Given the description of an element on the screen output the (x, y) to click on. 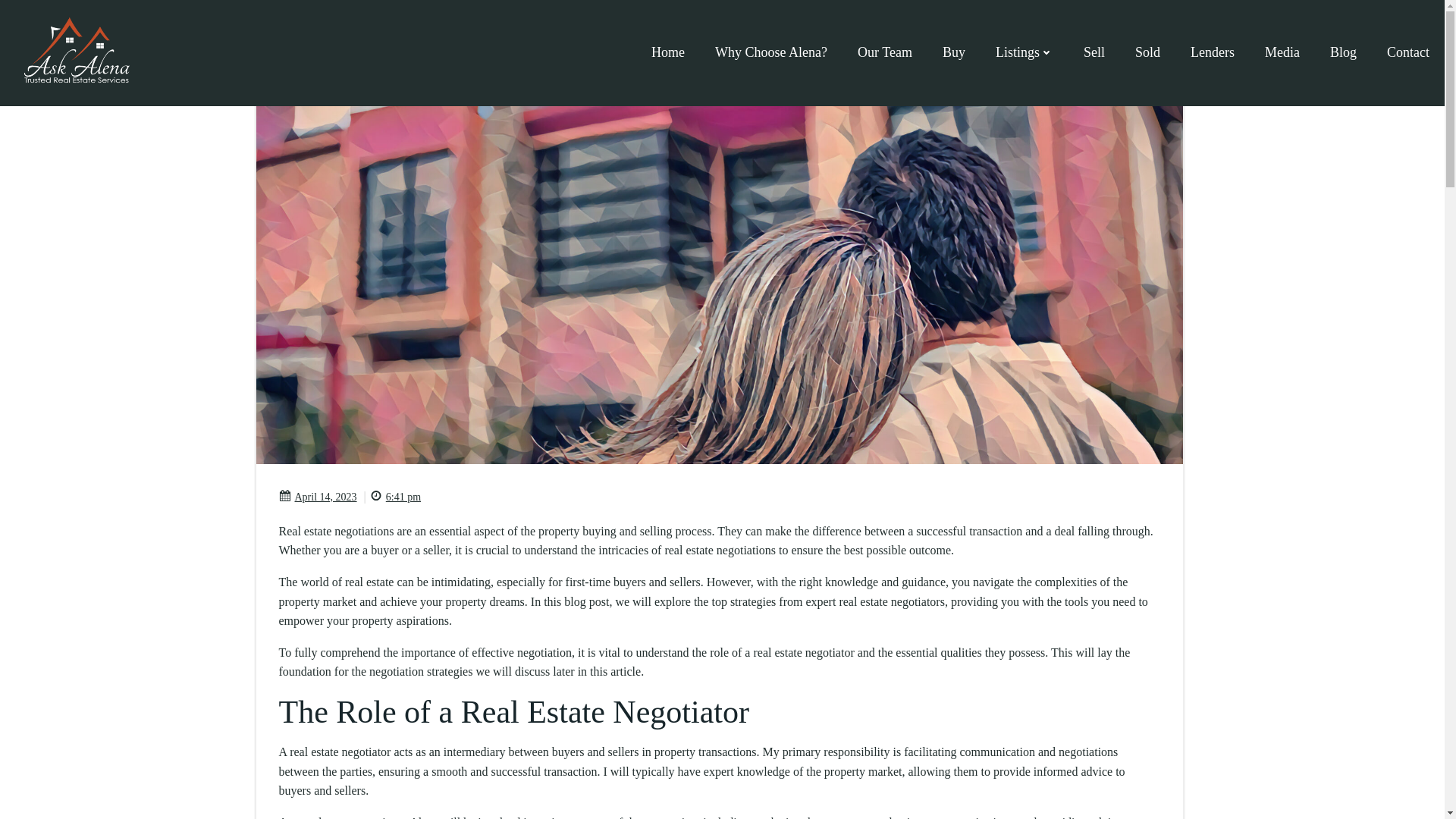
Our Team (884, 52)
Lenders (1212, 52)
6:41 pm (394, 496)
April 14, 2023 (317, 496)
Home (667, 52)
Buy (953, 52)
Why Choose Alena? (770, 52)
Listings (1023, 52)
Sell (1094, 52)
Media (1282, 52)
